Given the description of an element on the screen output the (x, y) to click on. 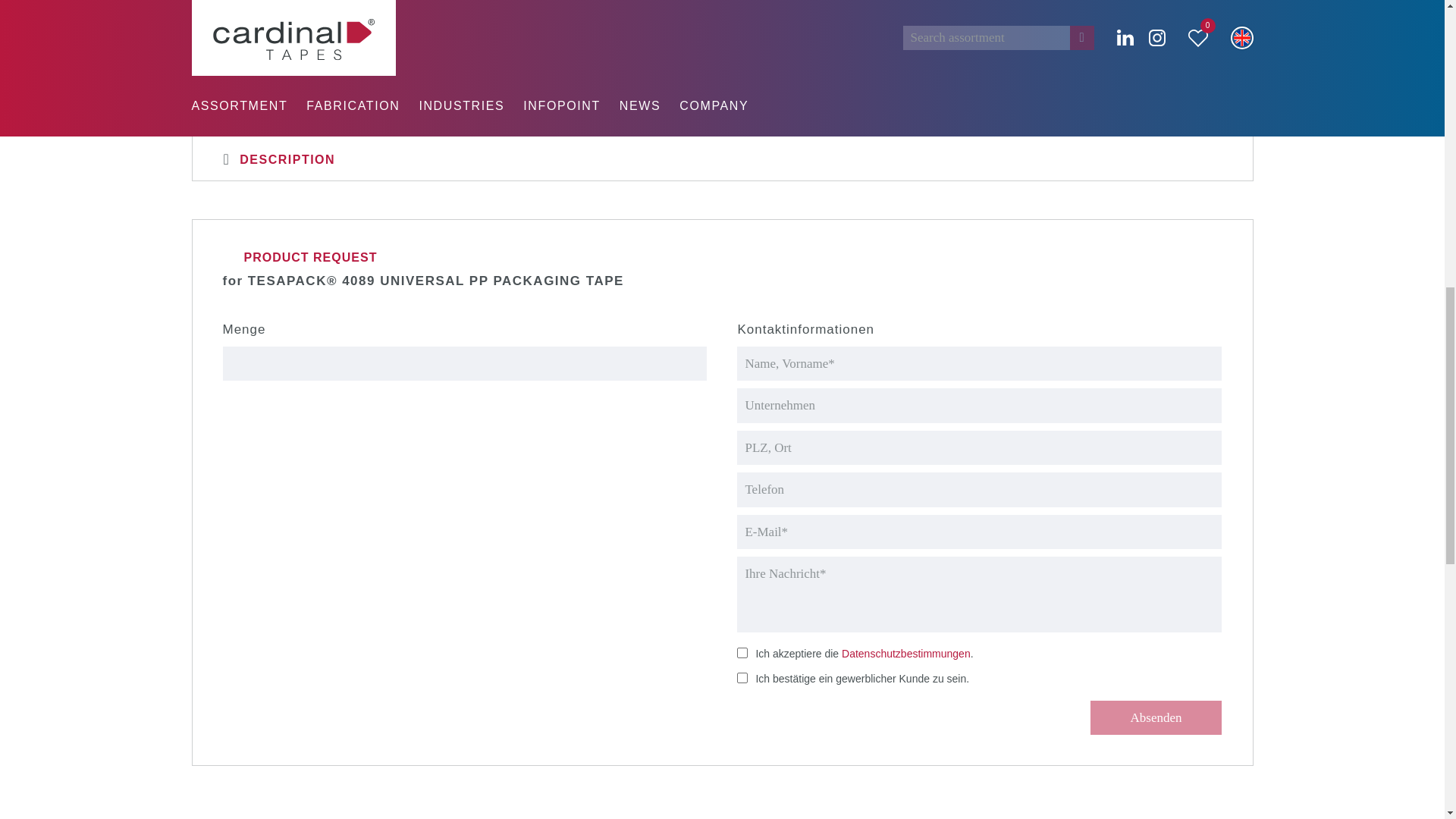
Absenden (1156, 718)
1 (742, 652)
1 (742, 677)
